Given the description of an element on the screen output the (x, y) to click on. 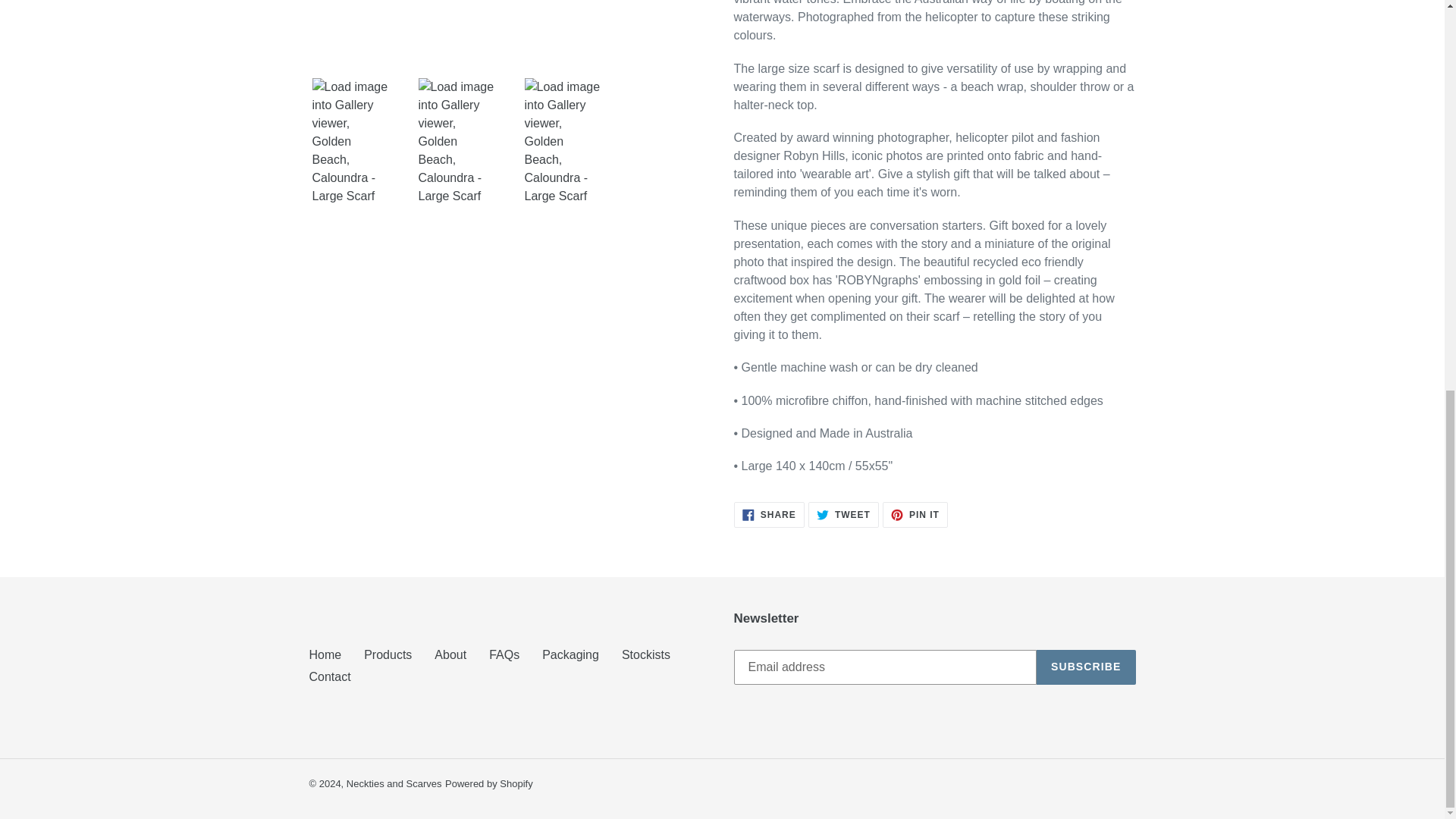
FAQs (504, 654)
Neckties and Scarves (769, 514)
SUBSCRIBE (843, 514)
Products (394, 783)
Stockists (1085, 667)
Home (914, 514)
Powered by Shopify (388, 654)
